Given the description of an element on the screen output the (x, y) to click on. 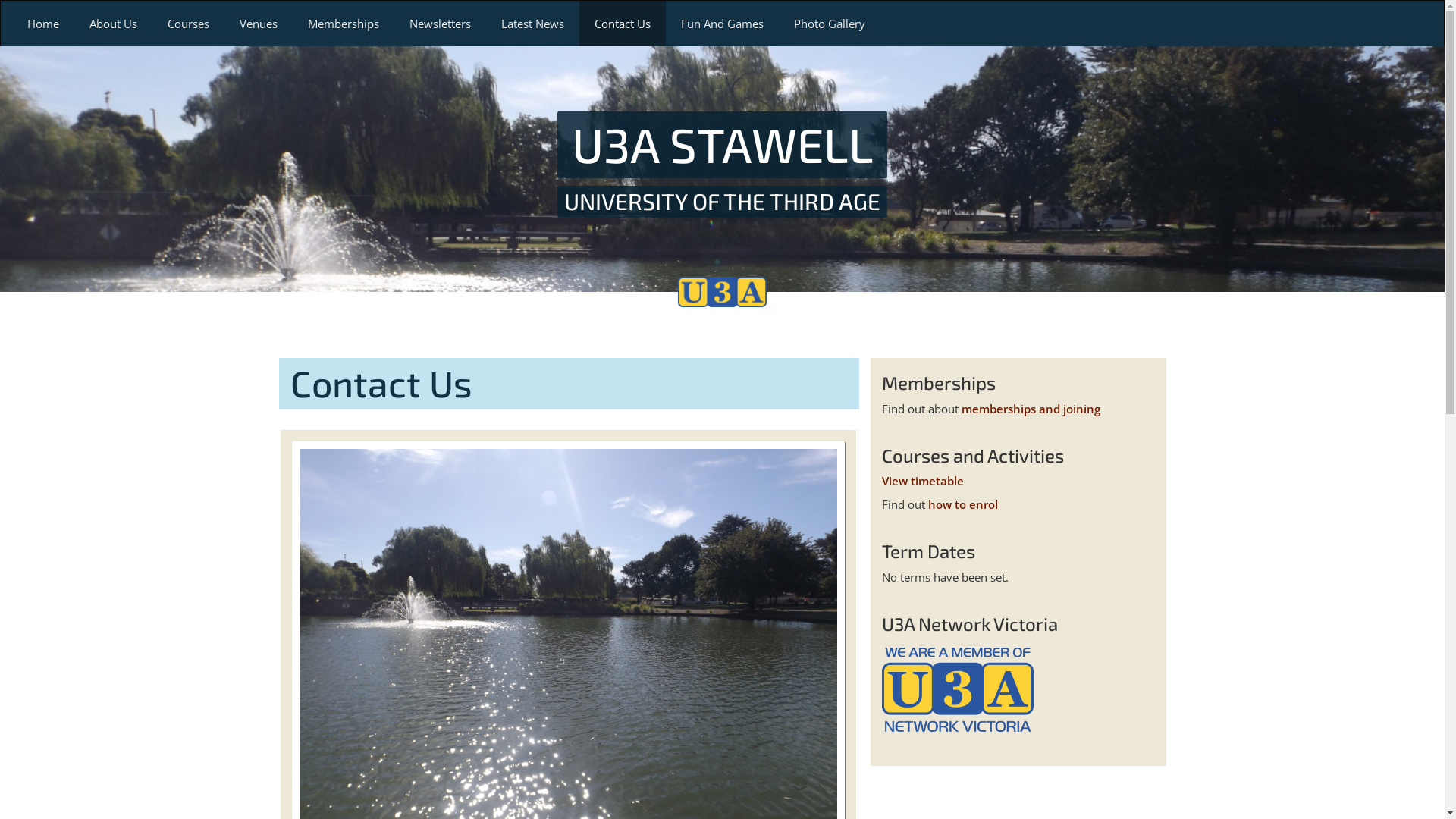
Venues Element type: text (258, 23)
how to enrol Element type: text (962, 503)
Photo Gallery Element type: text (829, 23)
memberships and joining Element type: text (1030, 408)
Courses Element type: text (188, 23)
Contact Us Element type: text (622, 23)
Latest News Element type: text (532, 23)
U3A STAWELL
UNIVERSITY OF THE THIRD AGE Element type: text (722, 163)
View timetable Element type: text (922, 480)
Fun And Games Element type: text (721, 23)
Newsletters Element type: text (440, 23)
Memberships Element type: text (343, 23)
About Us Element type: text (113, 23)
Home Element type: text (43, 23)
